Given the description of an element on the screen output the (x, y) to click on. 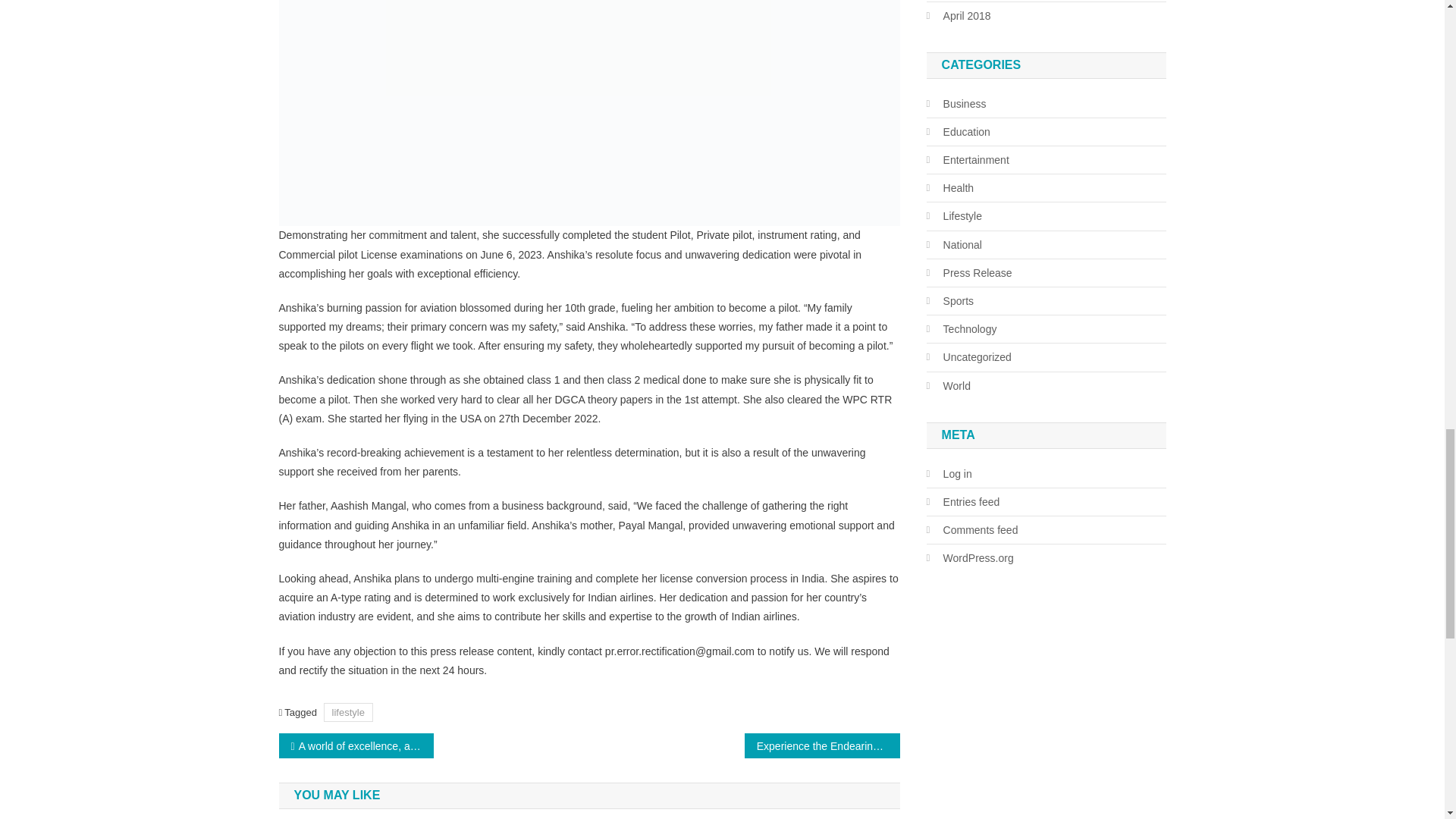
lifestyle (347, 711)
